Given the description of an element on the screen output the (x, y) to click on. 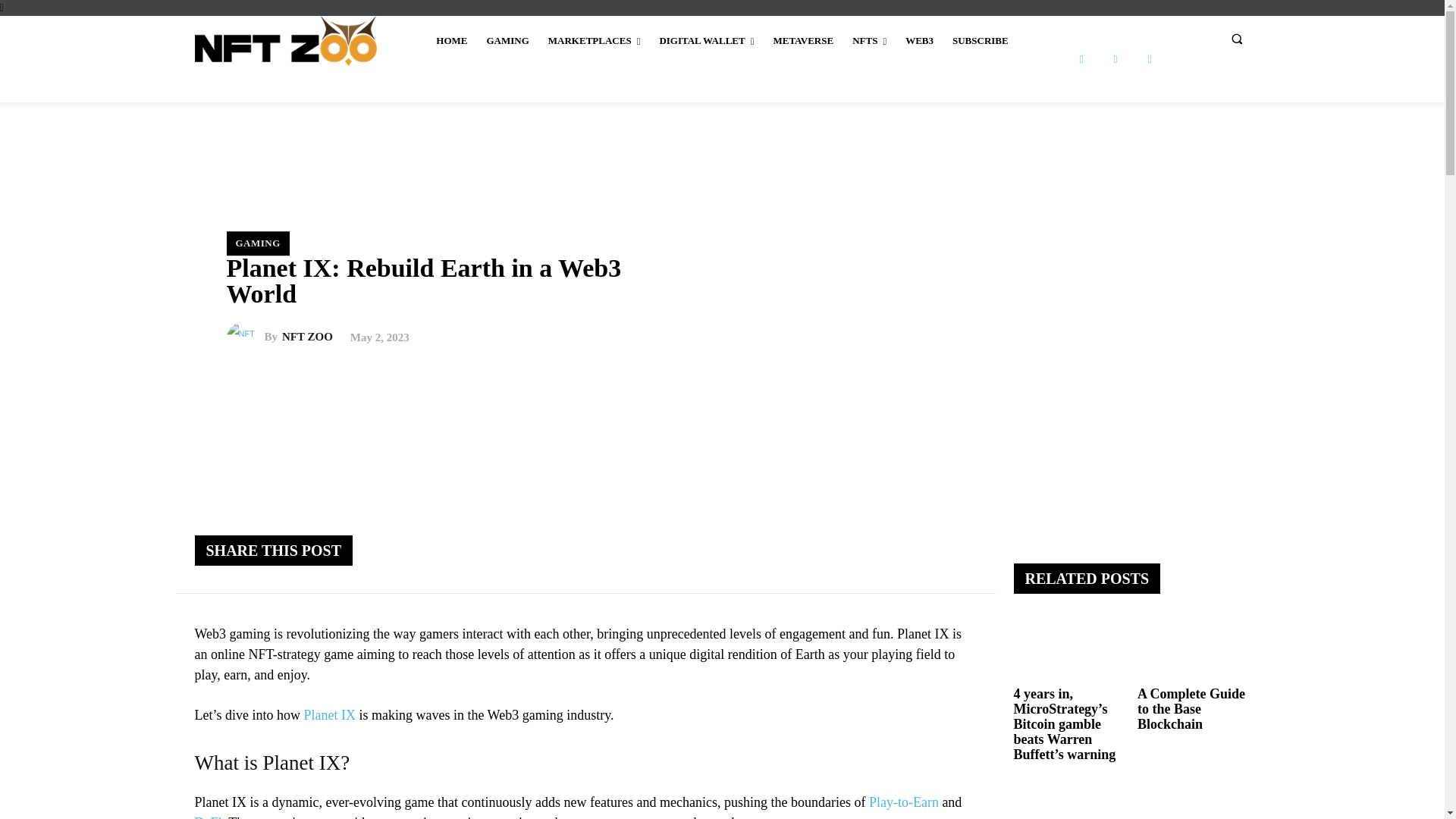
GAMING (507, 40)
MARKETPLACES (593, 40)
Twitter (1148, 58)
Instagram (1115, 58)
NFT ZOO (244, 337)
Facebook (1080, 58)
HOME (451, 40)
